Given the description of an element on the screen output the (x, y) to click on. 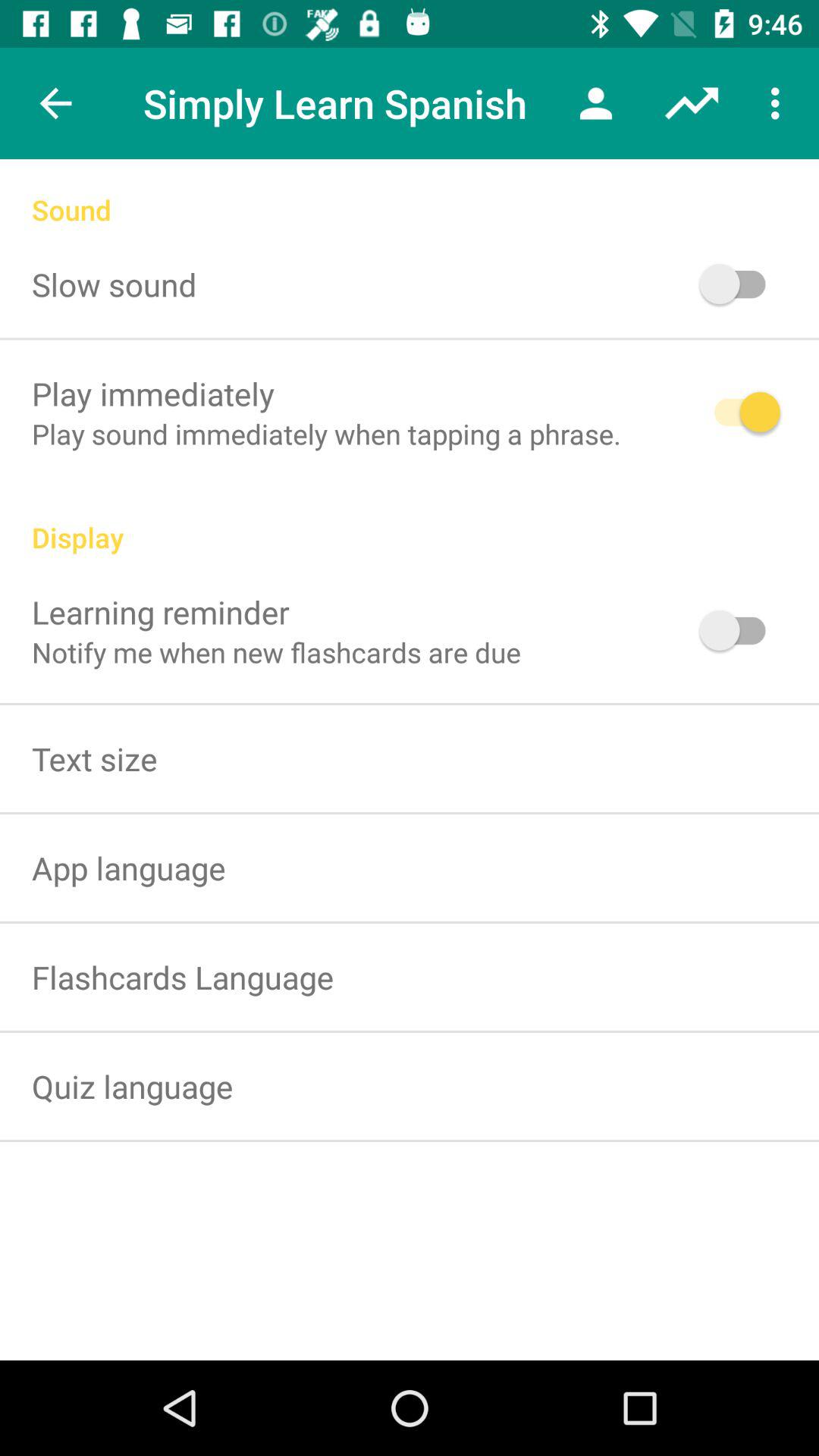
press flashcards language icon (182, 976)
